Given the description of an element on the screen output the (x, y) to click on. 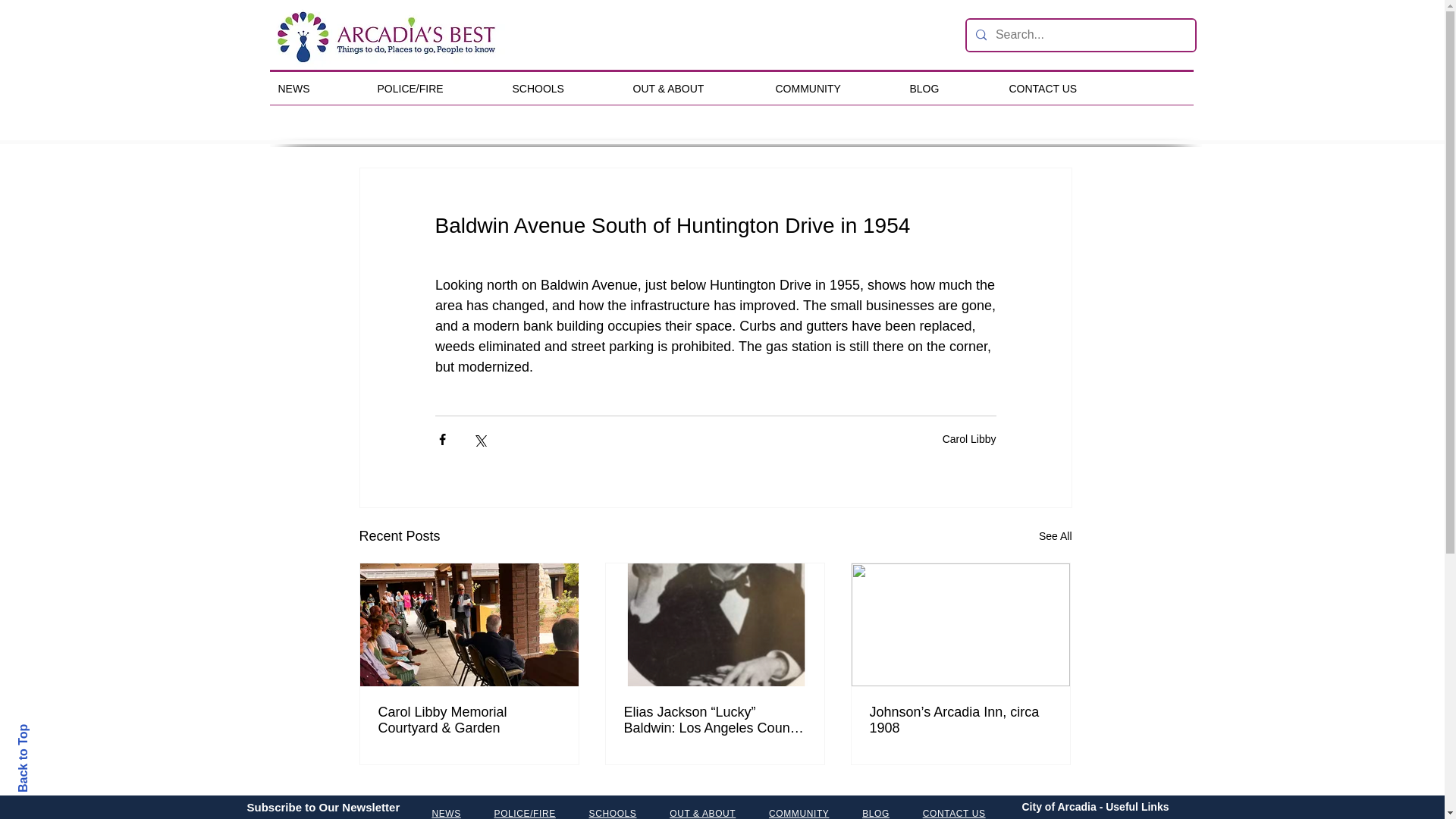
See All (1055, 536)
SCHOOLS (560, 88)
Carol Libby (968, 438)
COMMUNITY (831, 88)
NEWS (316, 88)
CONTACT US (1065, 88)
BLOG (947, 88)
